Given the description of an element on the screen output the (x, y) to click on. 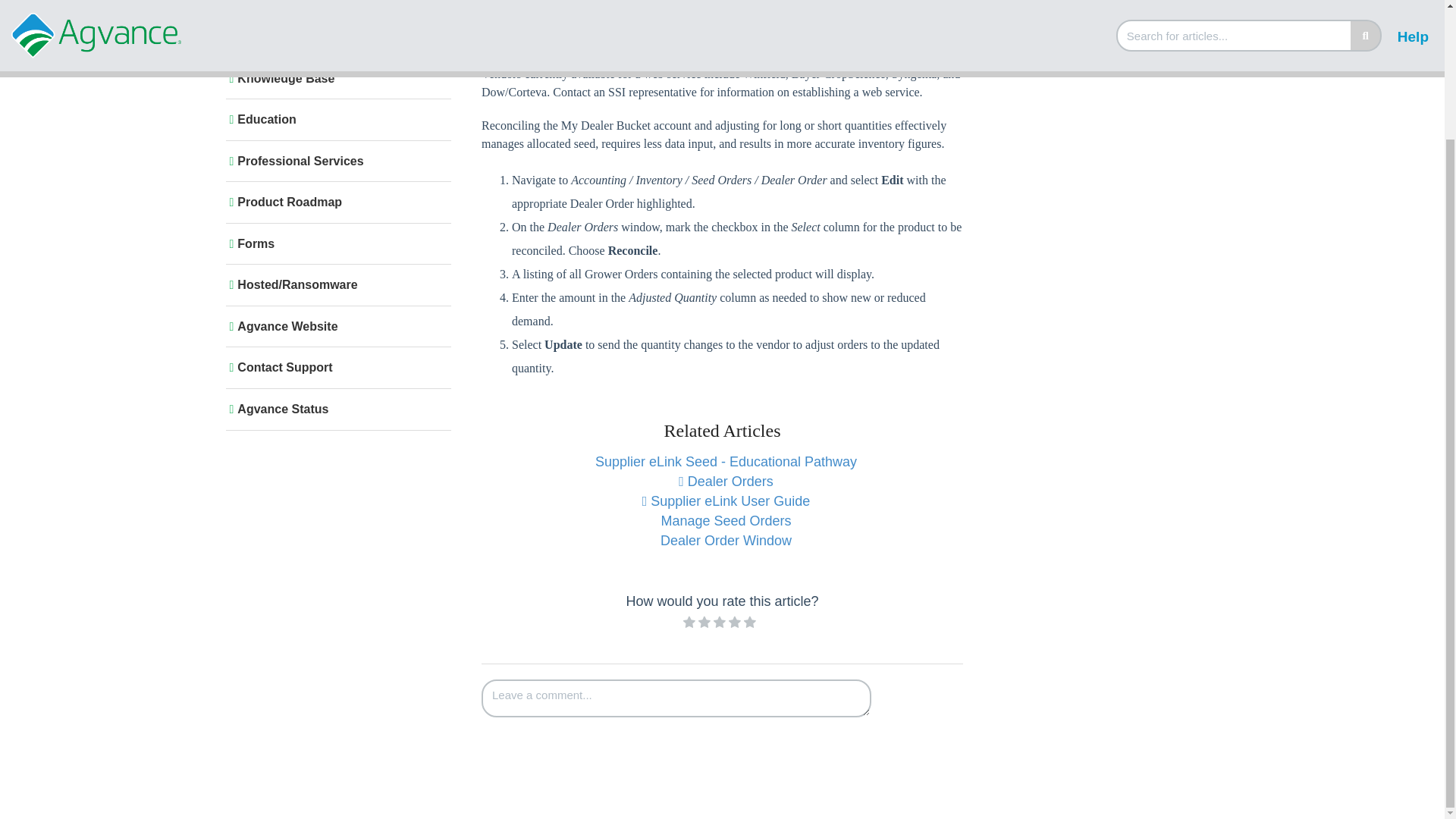
Forms (334, 243)
Agvance Website (334, 326)
Agvance Solutions Newsletter (334, 4)
Education (334, 119)
Contact Support (334, 367)
Knowledge Base (334, 78)
Professional Services (334, 161)
Agvance Status (334, 409)
Product Roadmap (334, 202)
Release Notes (334, 36)
